Given the description of an element on the screen output the (x, y) to click on. 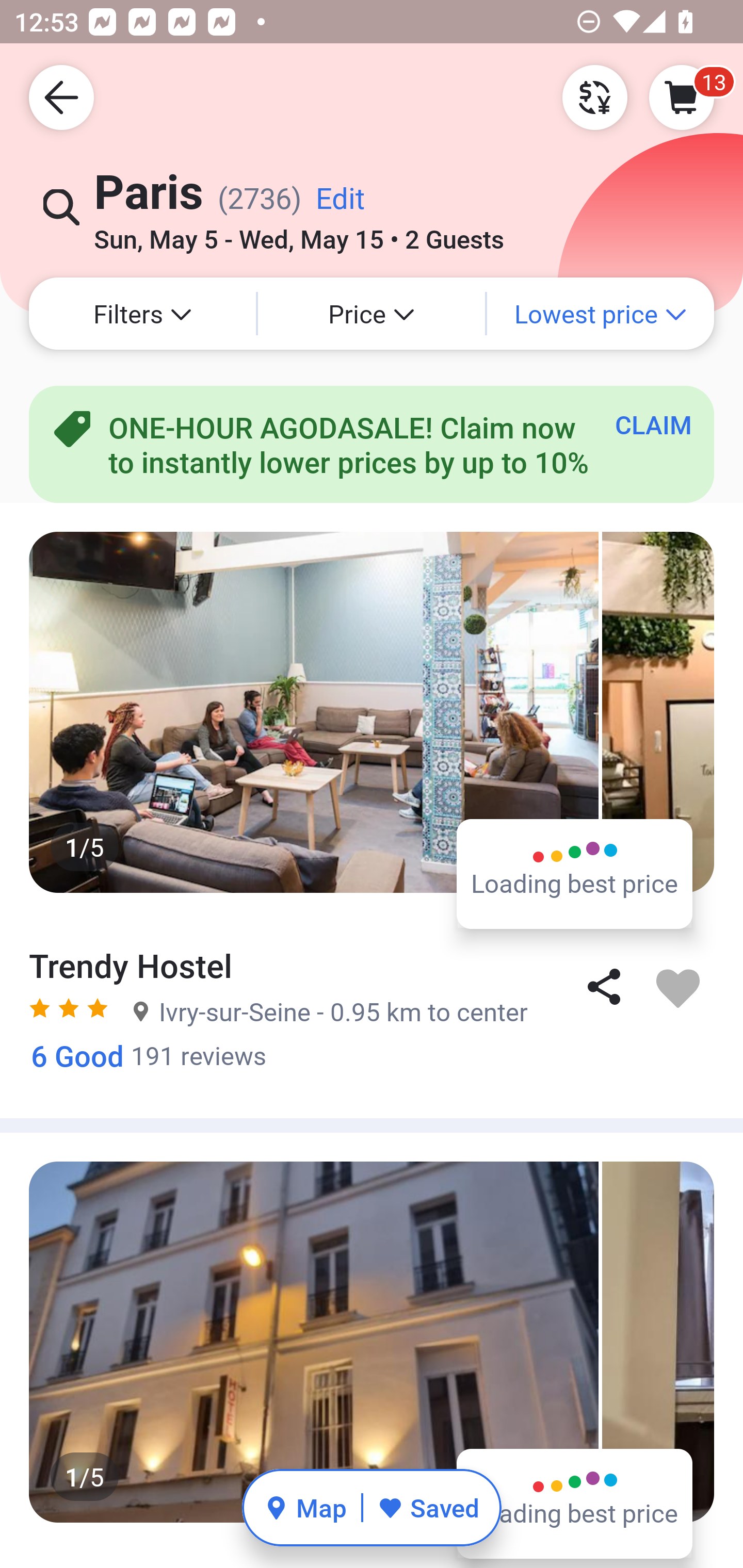
Sun, May 5 - Wed, May 15 • 2 Guests (298, 232)
Filters (141, 313)
Price (371, 313)
Lowest price (600, 313)
CLAIM (653, 424)
1/5 (371, 711)
Loading best price (574, 873)
1/5 (371, 1341)
Loading best price (574, 1503)
Map (305, 1507)
Saved (428, 1507)
